Given the description of an element on the screen output the (x, y) to click on. 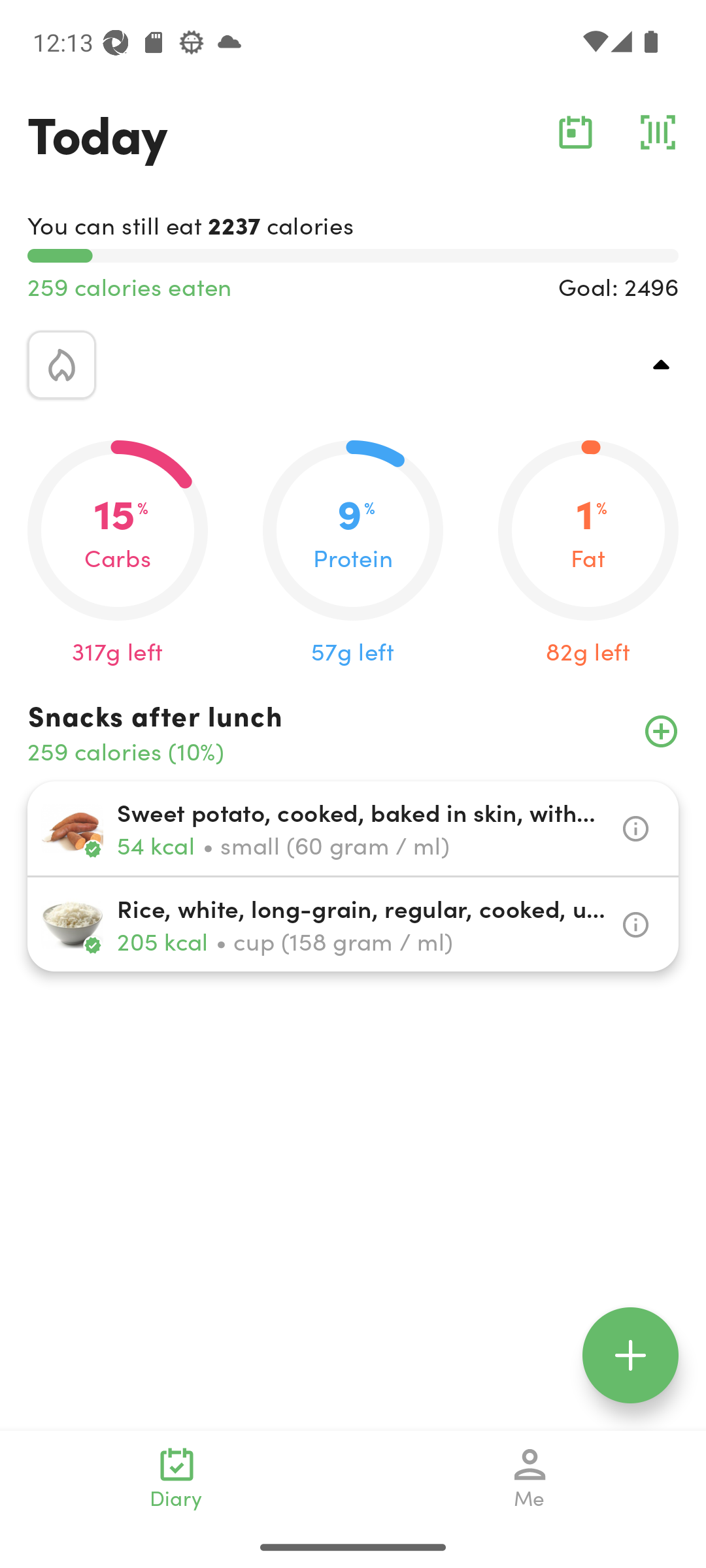
calendar_action (575, 132)
barcode_action (658, 132)
calorie_icon (62, 365)
top_right_action (661, 365)
0.15 15 % Carbs 317g left (117, 553)
0.09 9 % Protein 57g left (352, 553)
0.01 1 % Fat 82g left (588, 553)
info_icon (636, 828)
info_icon (636, 924)
floating_action_icon (630, 1355)
Me navigation_icon (529, 1478)
